Given the description of an element on the screen output the (x, y) to click on. 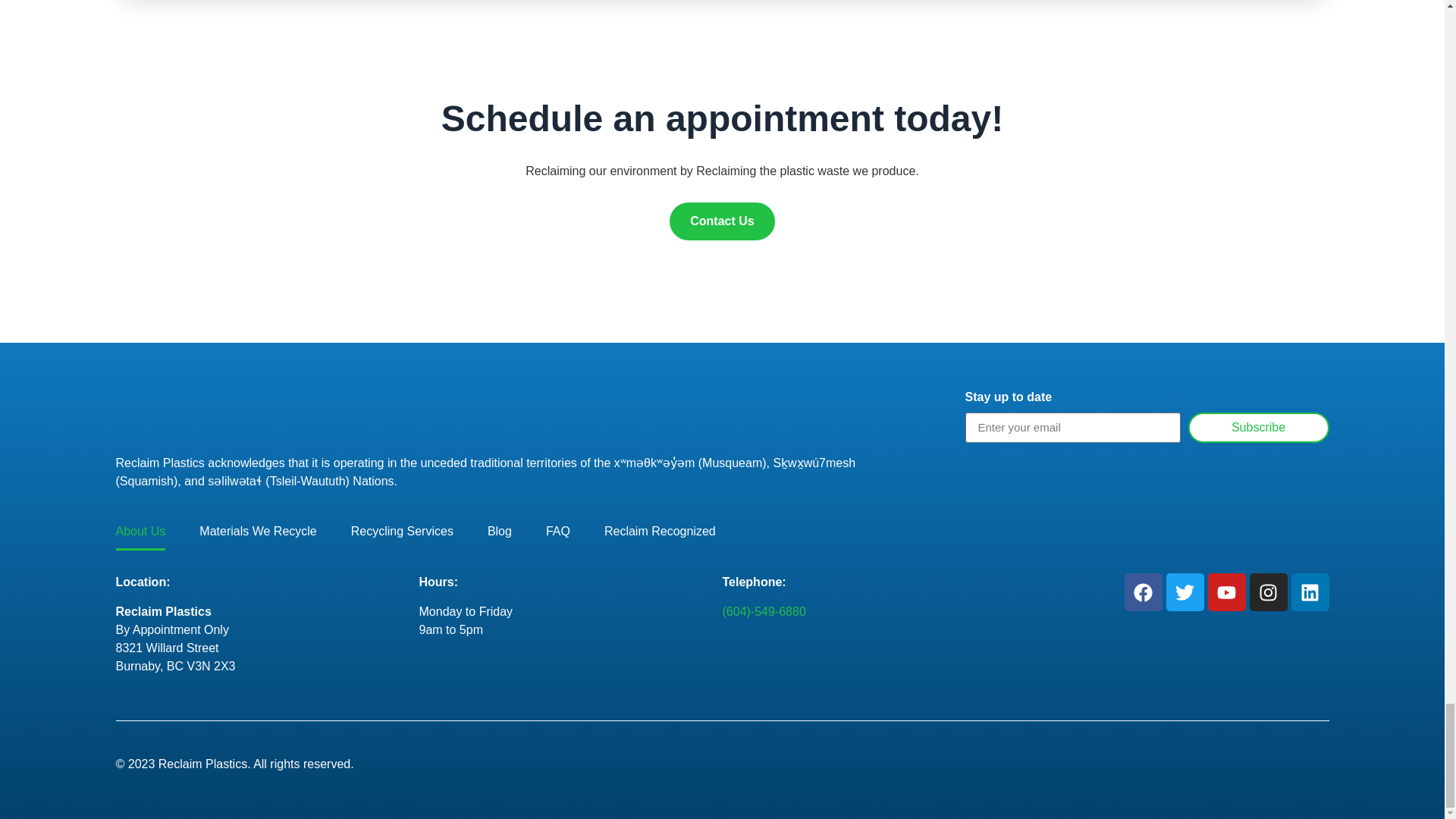
Reclaim Recognized (660, 531)
Contact Us (721, 221)
About Us (140, 531)
Materials We Recycle (257, 531)
Recycling Services (401, 531)
Subscribe (1257, 427)
